Given the description of an element on the screen output the (x, y) to click on. 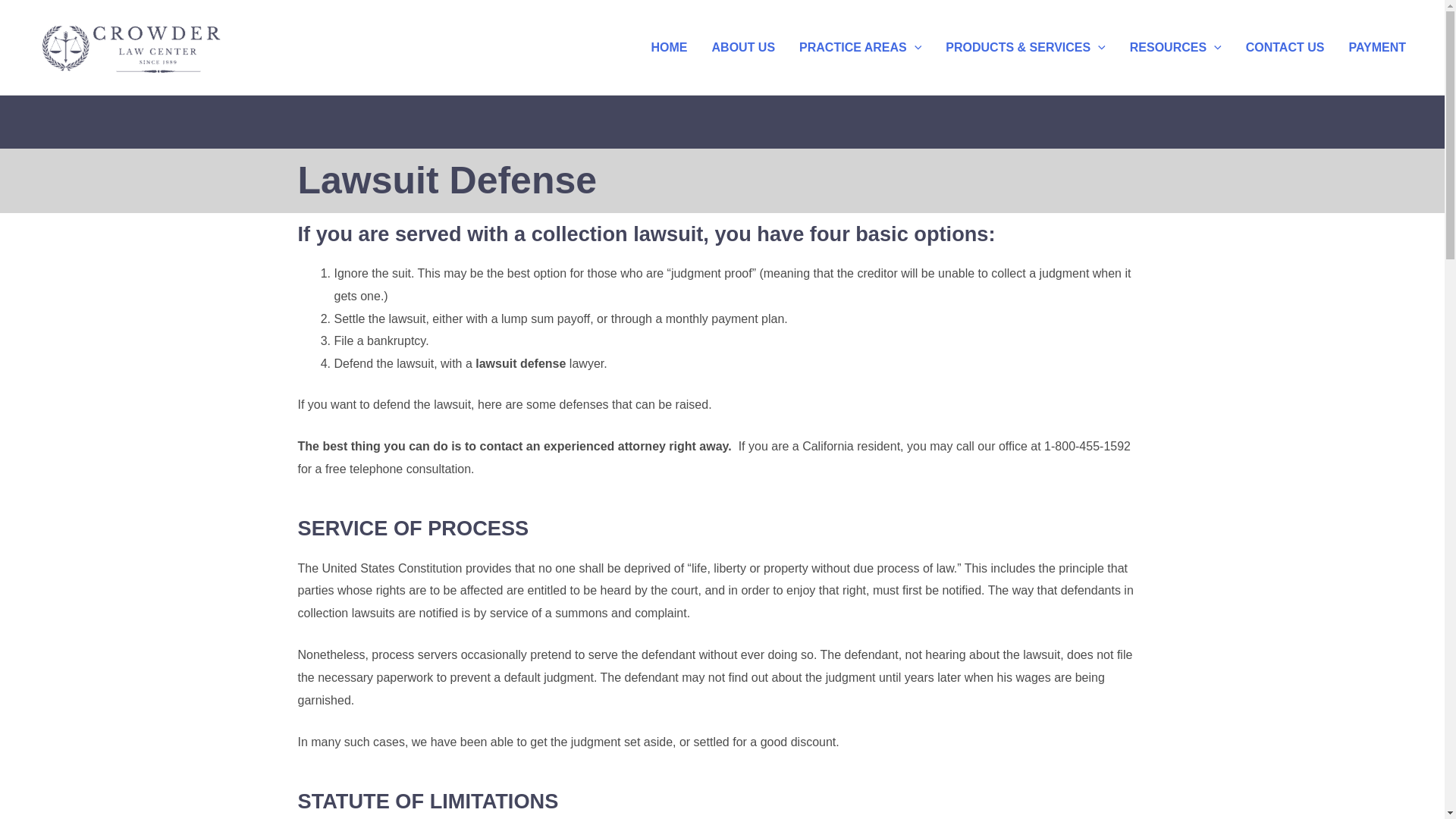
ABOUT US (743, 46)
PRACTICE AREAS (860, 46)
RESOURCES (1175, 46)
CONTACT US (1284, 46)
HOME (669, 46)
PAYMENT (1377, 46)
